Given the description of an element on the screen output the (x, y) to click on. 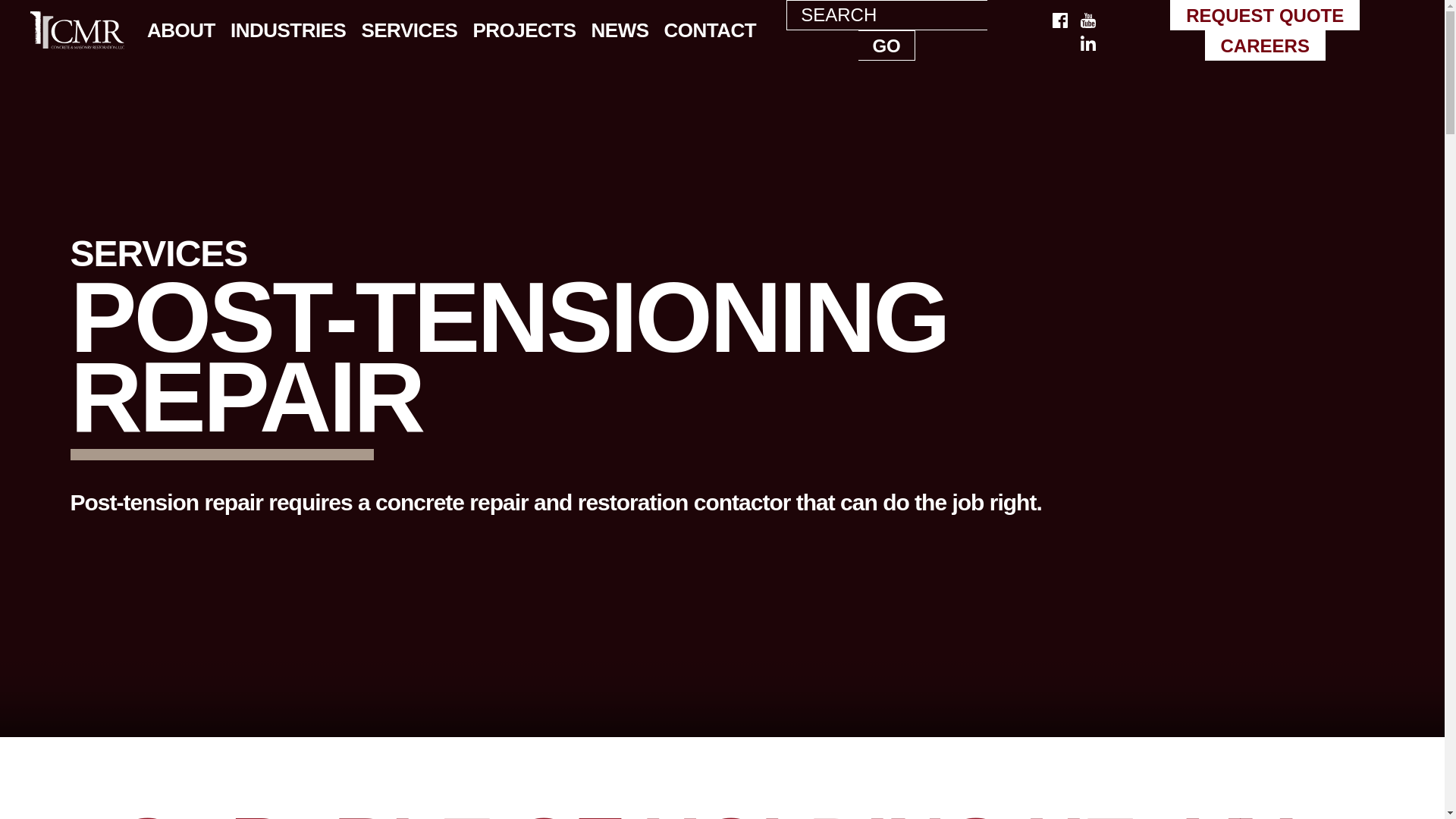
SERVICES (409, 30)
INDUSTRIES (288, 30)
GO (886, 45)
GO (886, 45)
ABOUT (181, 30)
